Given the description of an element on the screen output the (x, y) to click on. 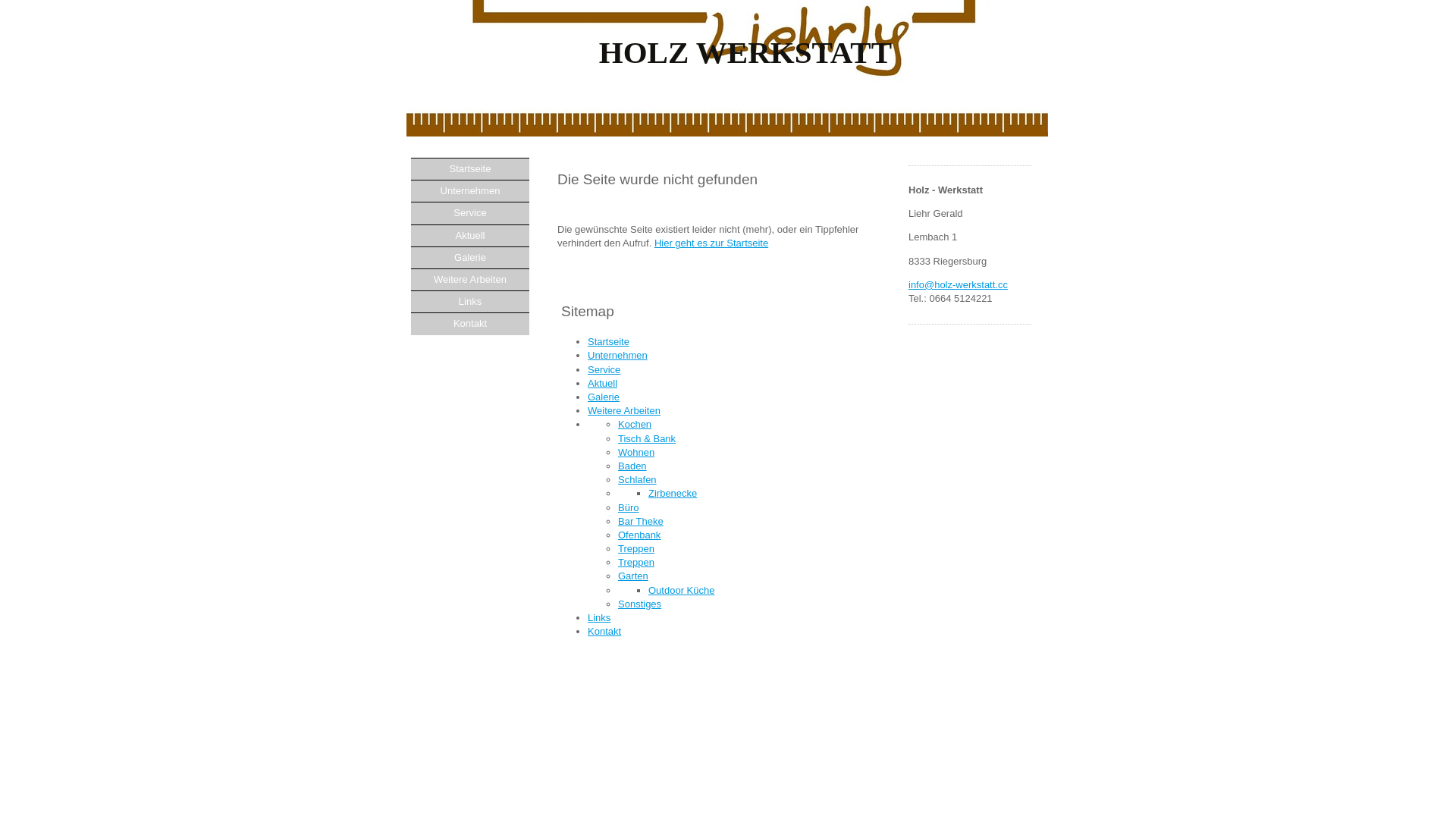
Kontakt Element type: text (604, 631)
Hier geht es zur Startseite Element type: text (711, 242)
Ofenbank Element type: text (639, 534)
Kochen Element type: text (634, 423)
Startseite Element type: text (470, 168)
Aktuell Element type: text (602, 383)
Sonstiges Element type: text (639, 603)
Wohnen Element type: text (636, 452)
Baden Element type: text (632, 465)
Garten Element type: text (633, 575)
Schlafen Element type: text (637, 479)
Links Element type: text (470, 301)
Abmelden Element type: text (911, 398)
Datenschutz Element type: text (915, 384)
Galerie Element type: text (470, 257)
Aktuell Element type: text (470, 235)
Zirbenecke Element type: text (672, 492)
Weitere Arbeiten Element type: text (470, 279)
info@holz-werkstatt.cc Element type: text (957, 284)
Service Element type: text (470, 212)
Sitemap Element type: text (969, 384)
Kontakt Element type: text (470, 323)
Treppen Element type: text (636, 548)
Startseite Element type: text (608, 341)
Unternehmen Element type: text (470, 190)
Galerie Element type: text (603, 396)
Bearbeiten Element type: text (964, 398)
Weitere Arbeiten Element type: text (623, 410)
Tisch & Bank Element type: text (646, 438)
Links Element type: text (598, 617)
HOLZ WERKSTATT Element type: text (727, 132)
Bar Theke Element type: text (640, 521)
Service Element type: text (603, 369)
Unternehmen Element type: text (617, 354)
Treppen Element type: text (636, 561)
